Given the description of an element on the screen output the (x, y) to click on. 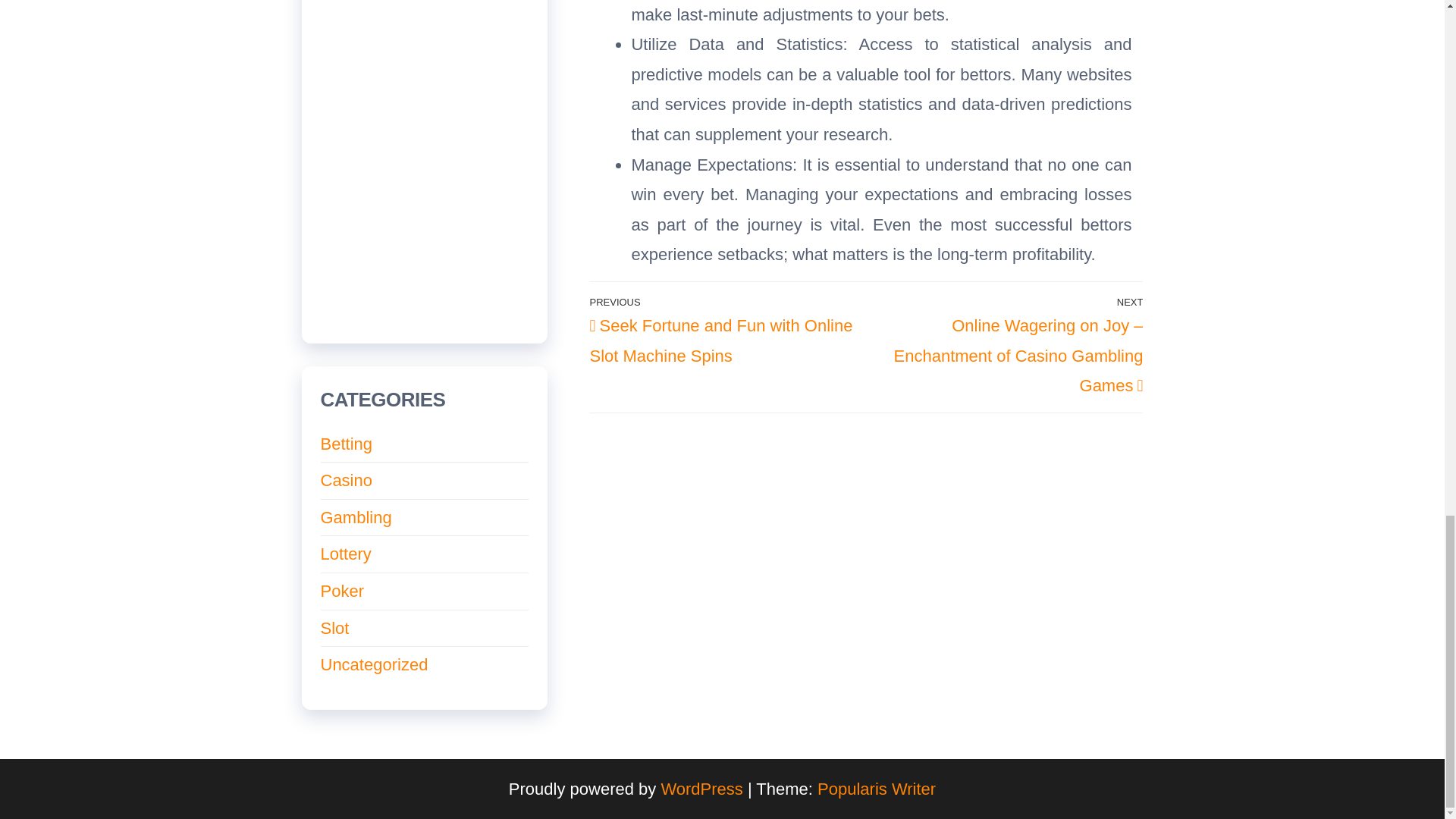
Betting (346, 443)
Slot (334, 628)
Uncategorized (374, 664)
WordPress (701, 788)
Gambling (355, 517)
Popularis Writer (876, 788)
Lottery (345, 553)
Poker (341, 590)
Casino (345, 479)
